Given the description of an element on the screen output the (x, y) to click on. 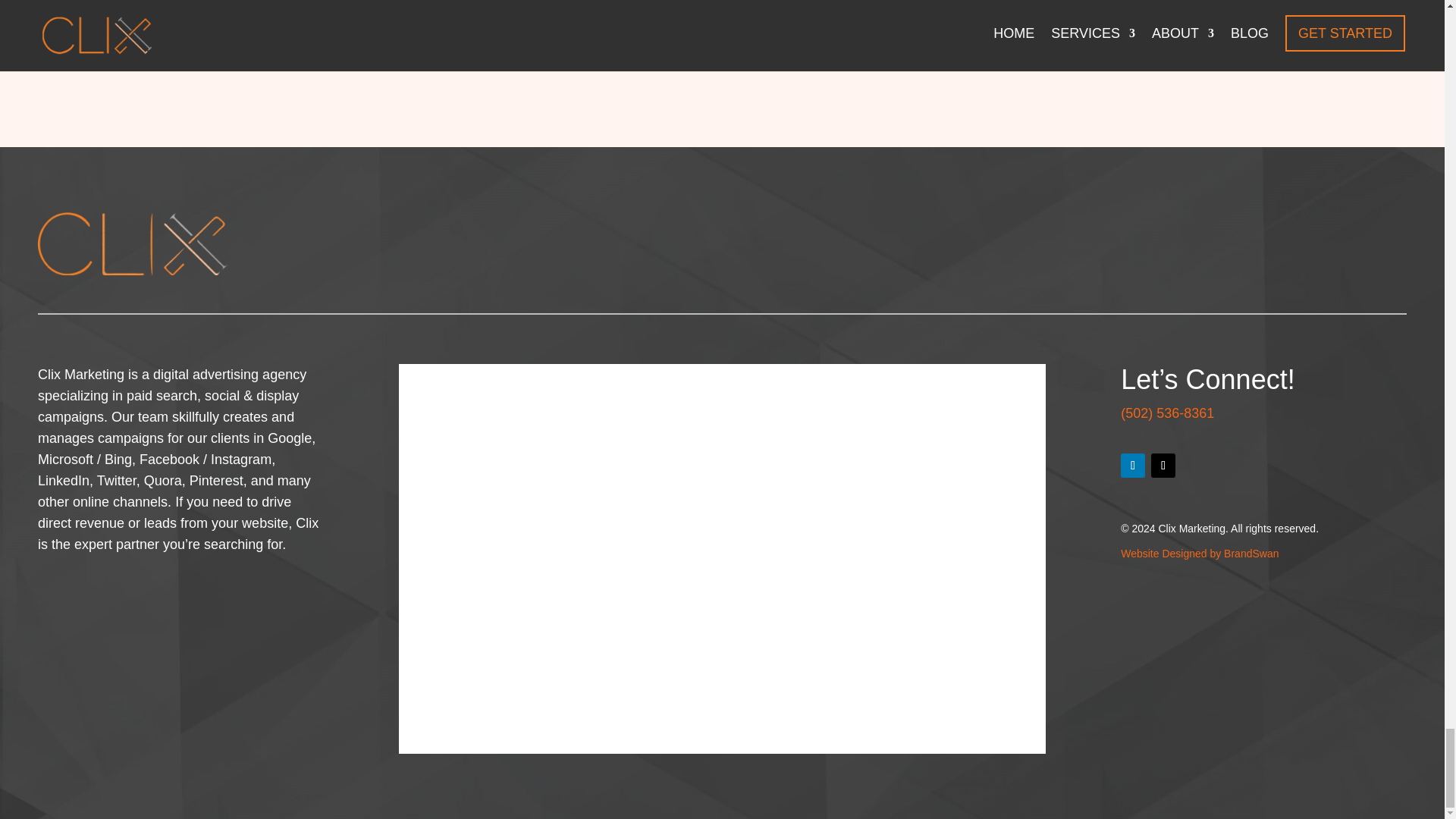
Follow on X (1162, 465)
Delaware Web Design by BrandSwan (1199, 553)
Follow on LinkedIn (1132, 465)
